Given the description of an element on the screen output the (x, y) to click on. 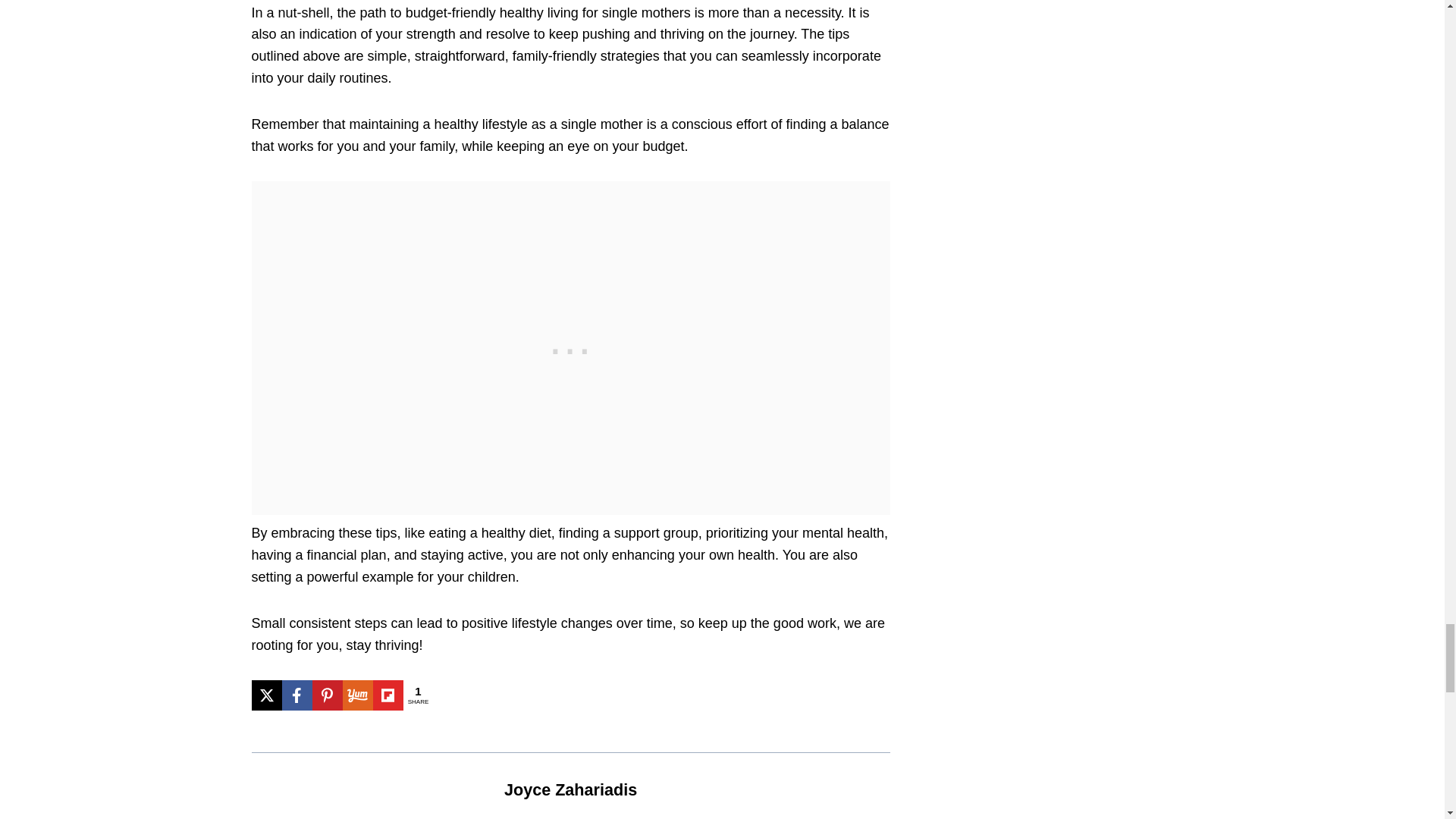
Posts by Joyce Zahariadis (570, 789)
